Given the description of an element on the screen output the (x, y) to click on. 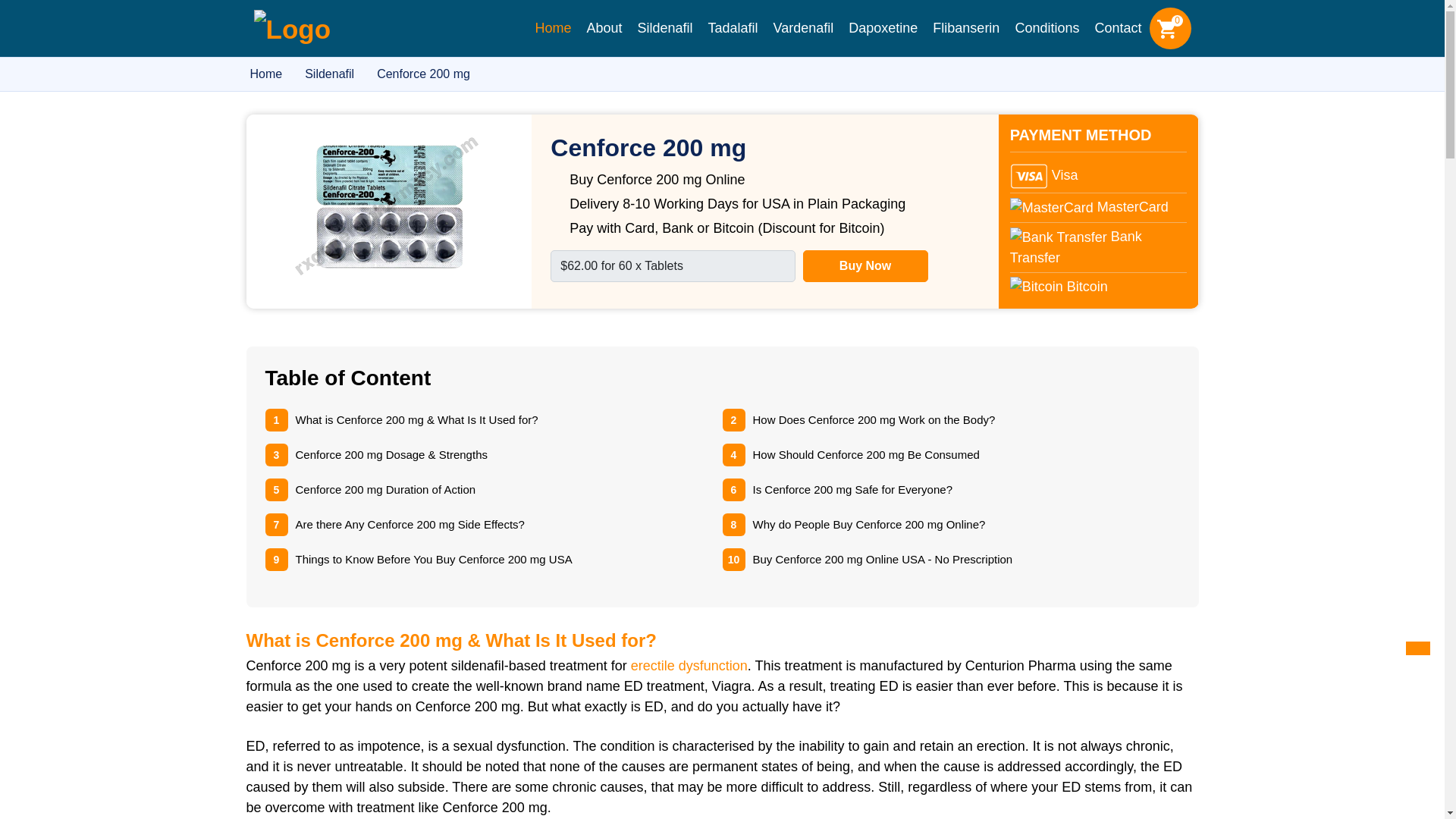
About (603, 27)
Sildenafil (664, 27)
Home (552, 27)
